Given the description of an element on the screen output the (x, y) to click on. 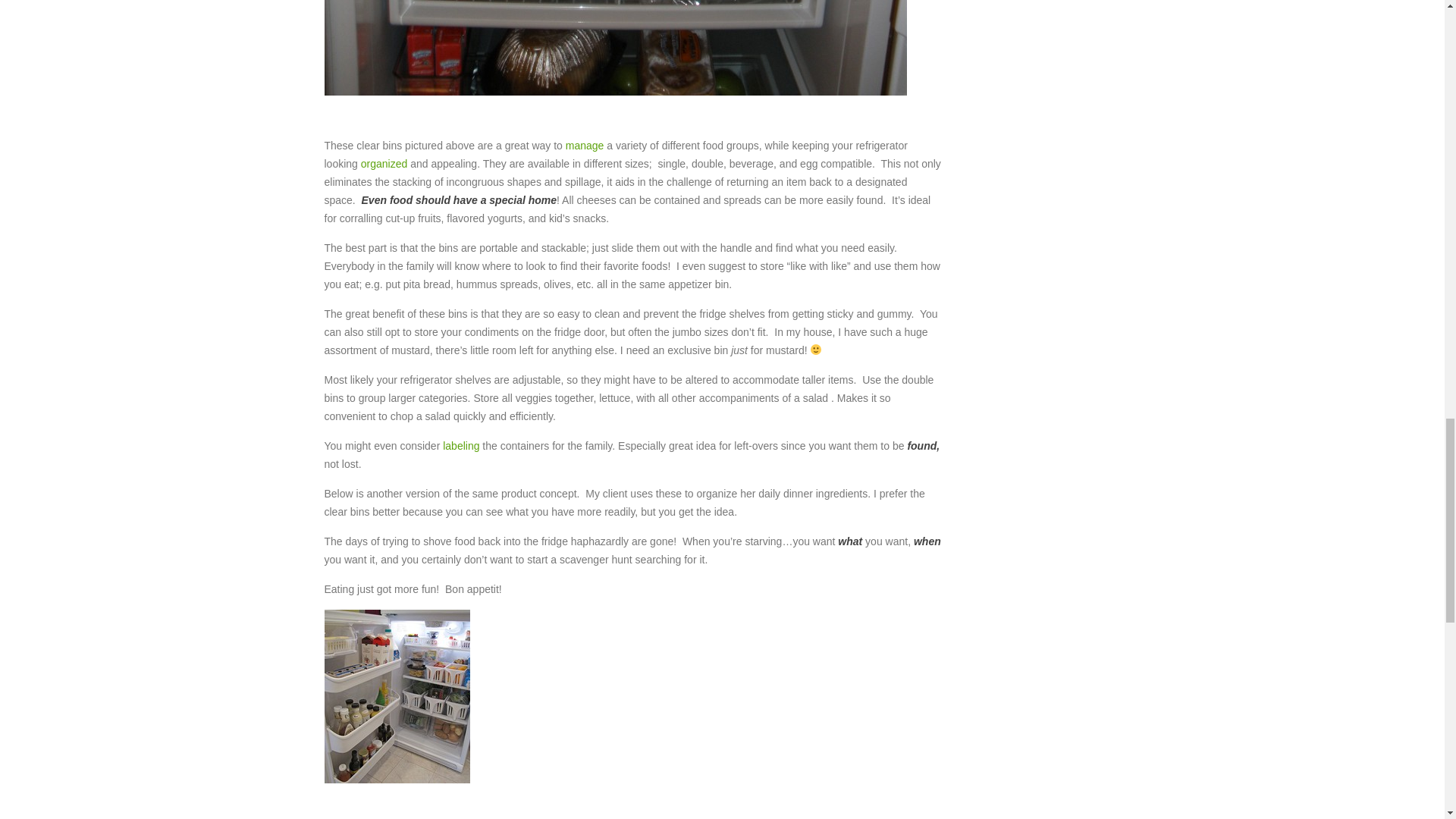
labeling (460, 445)
organized (385, 163)
manage (586, 145)
OLYMPUS DIGITAL CAMERA (615, 47)
organized fridge (397, 695)
